Given the description of an element on the screen output the (x, y) to click on. 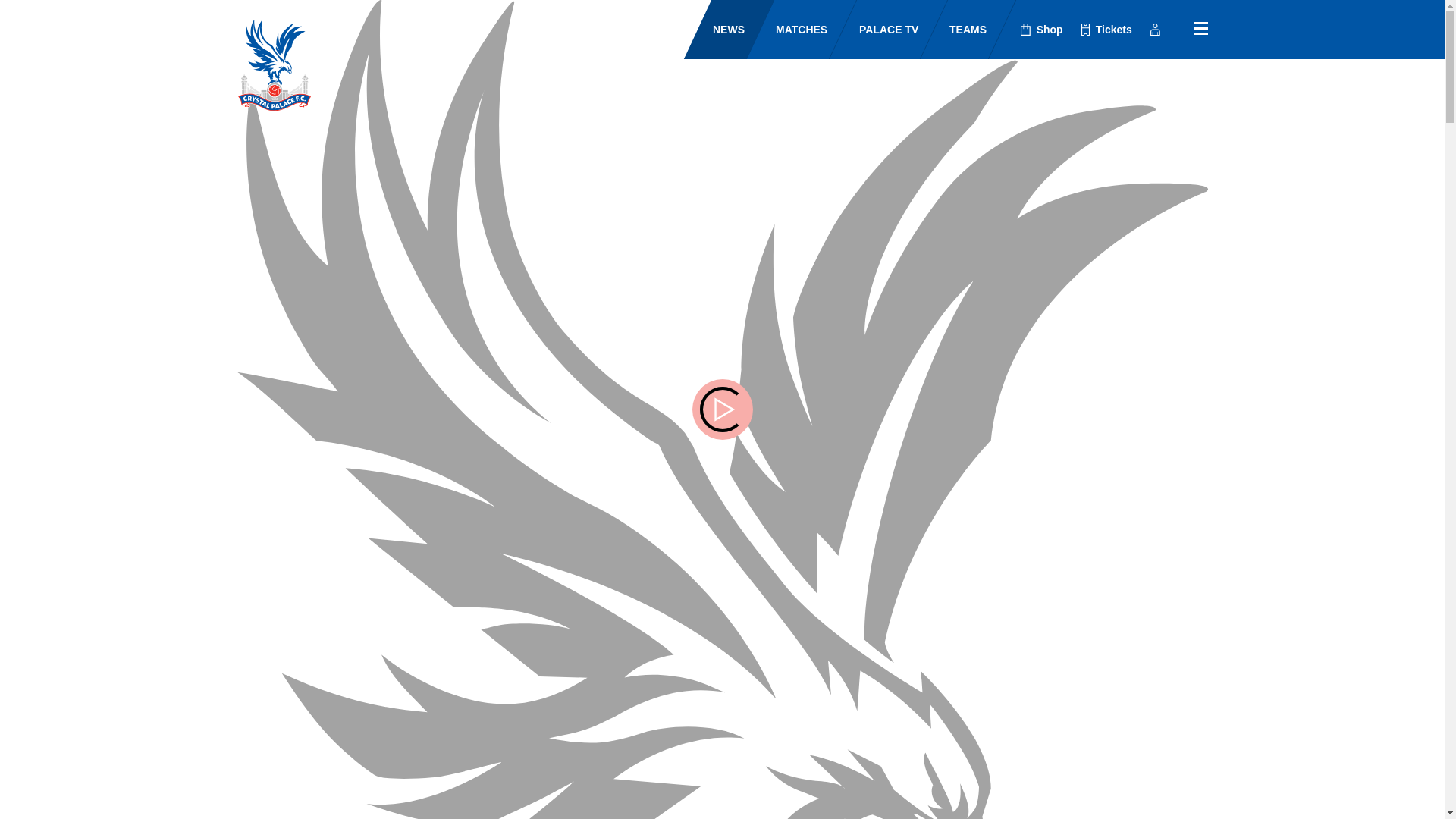
MATCHES (787, 29)
Shop (1041, 29)
NEWS (715, 29)
PALACE TV (874, 29)
Tickets (1106, 29)
TEAMS (954, 29)
